Given the description of an element on the screen output the (x, y) to click on. 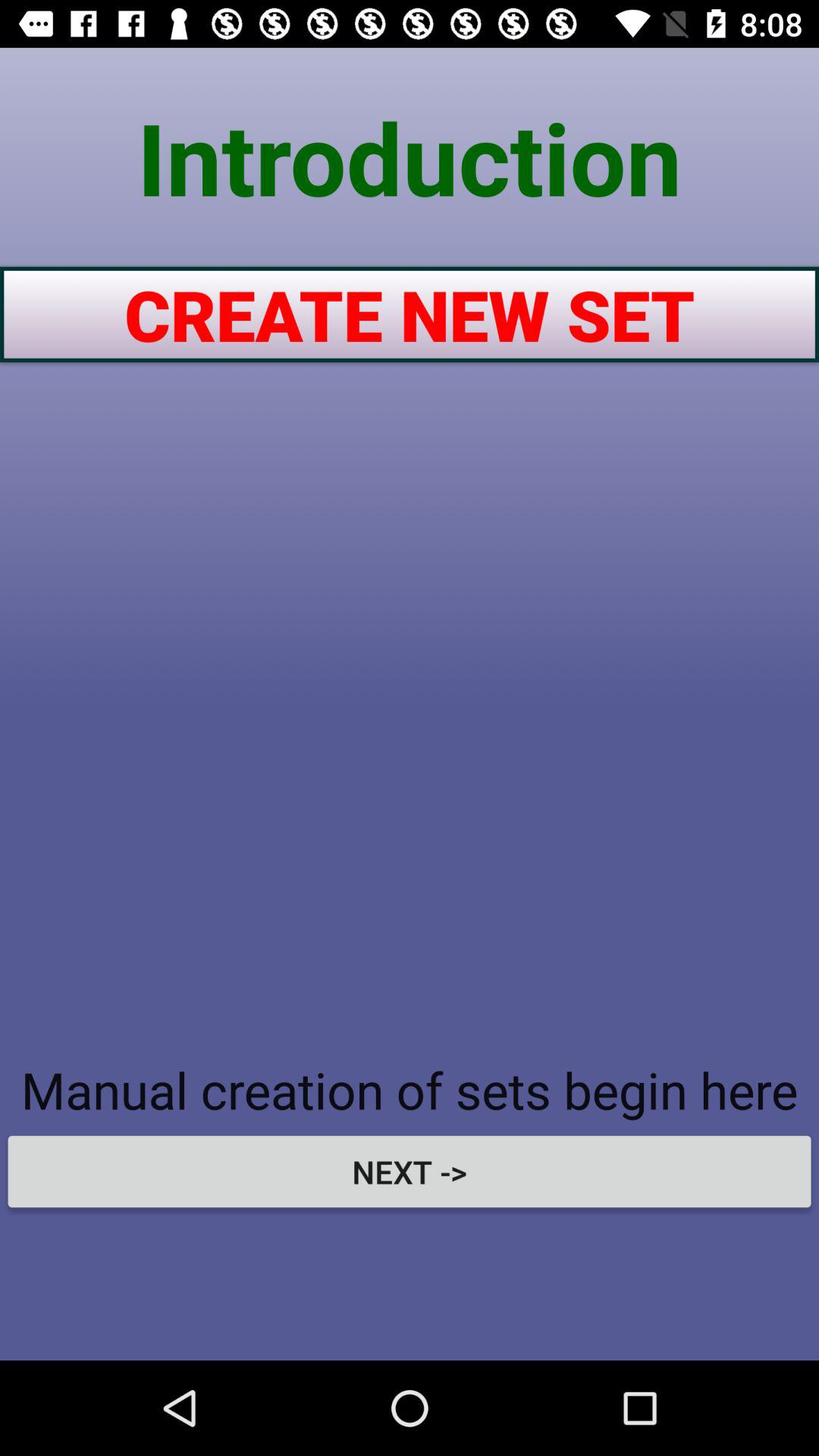
tap item below the manual creation of app (409, 1171)
